Given the description of an element on the screen output the (x, y) to click on. 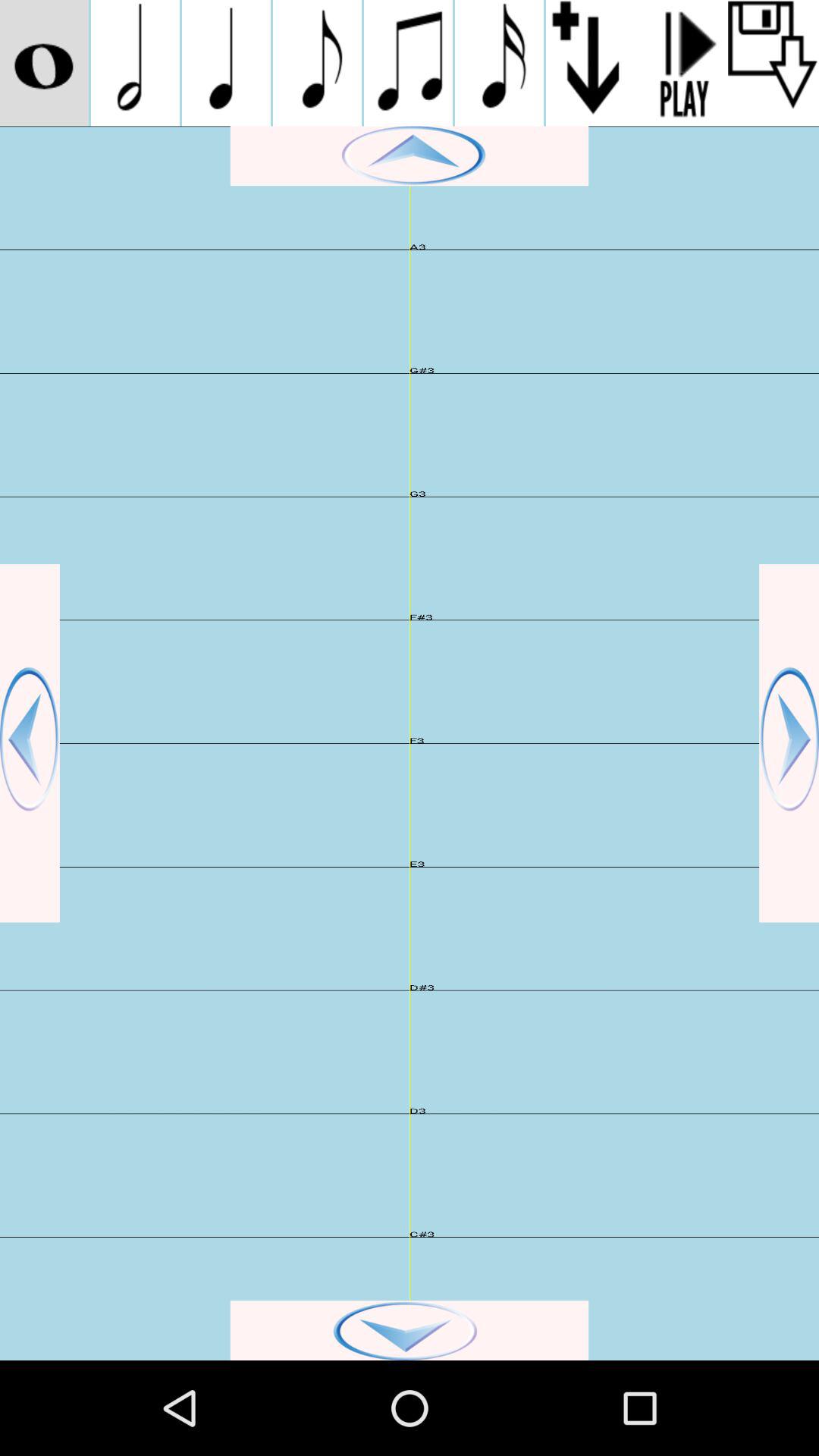
input quarter note (226, 63)
